Given the description of an element on the screen output the (x, y) to click on. 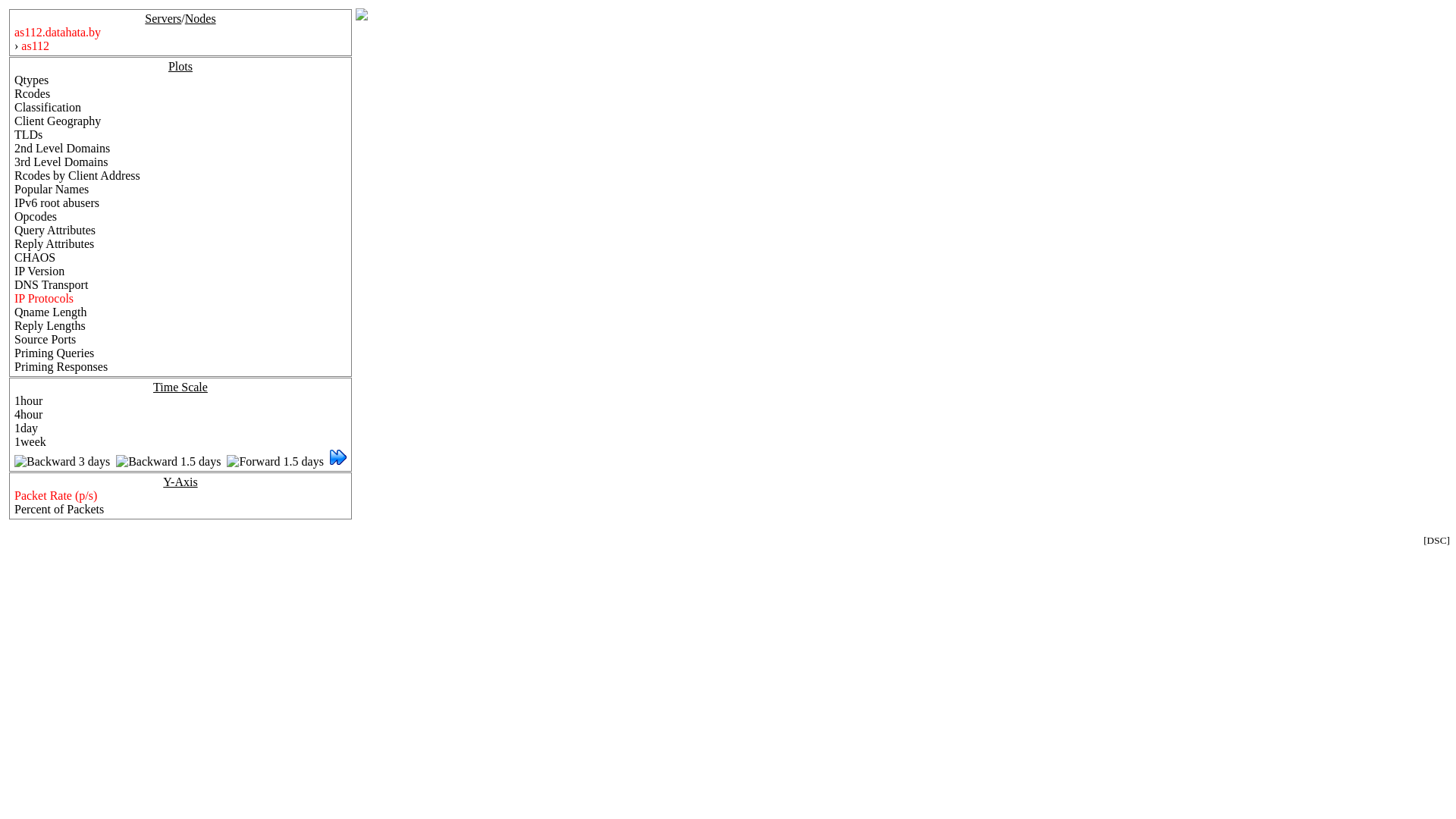
IP Protocols Element type: text (43, 297)
DNS Transport Element type: text (50, 284)
1hour Element type: text (28, 400)
4hour Element type: text (28, 413)
CHAOS Element type: text (34, 257)
Reply Lengths Element type: text (49, 325)
2nd Level Domains Element type: text (61, 147)
IPv6 root abusers Element type: text (56, 202)
Forward 3 days Element type: hover (337, 461)
Opcodes Element type: text (35, 216)
TLDs Element type: text (28, 134)
Percent of Packets Element type: text (58, 508)
IP Version Element type: text (39, 270)
Classification Element type: text (47, 106)
Packet Rate (p/s) Element type: text (55, 495)
Qtypes Element type: text (31, 79)
Priming Responses Element type: text (60, 366)
Rcodes Element type: text (32, 93)
Client Geography Element type: text (57, 120)
Backward 3 days Element type: hover (61, 461)
3rd Level Domains Element type: text (61, 161)
Rcodes by Client Address Element type: text (77, 175)
Backward 1.5 days Element type: hover (168, 461)
Reply Attributes Element type: text (54, 243)
1week Element type: text (30, 441)
Popular Names Element type: text (51, 188)
Source Ports Element type: text (44, 338)
Forward 1.5 days Element type: hover (274, 461)
as112.datahata.by Element type: text (57, 31)
1day Element type: text (25, 427)
Priming Queries Element type: text (54, 352)
Query Attributes Element type: text (54, 229)
DSC Element type: text (1436, 540)
as112 Element type: text (35, 45)
Qname Length Element type: text (50, 311)
